Given the description of an element on the screen output the (x, y) to click on. 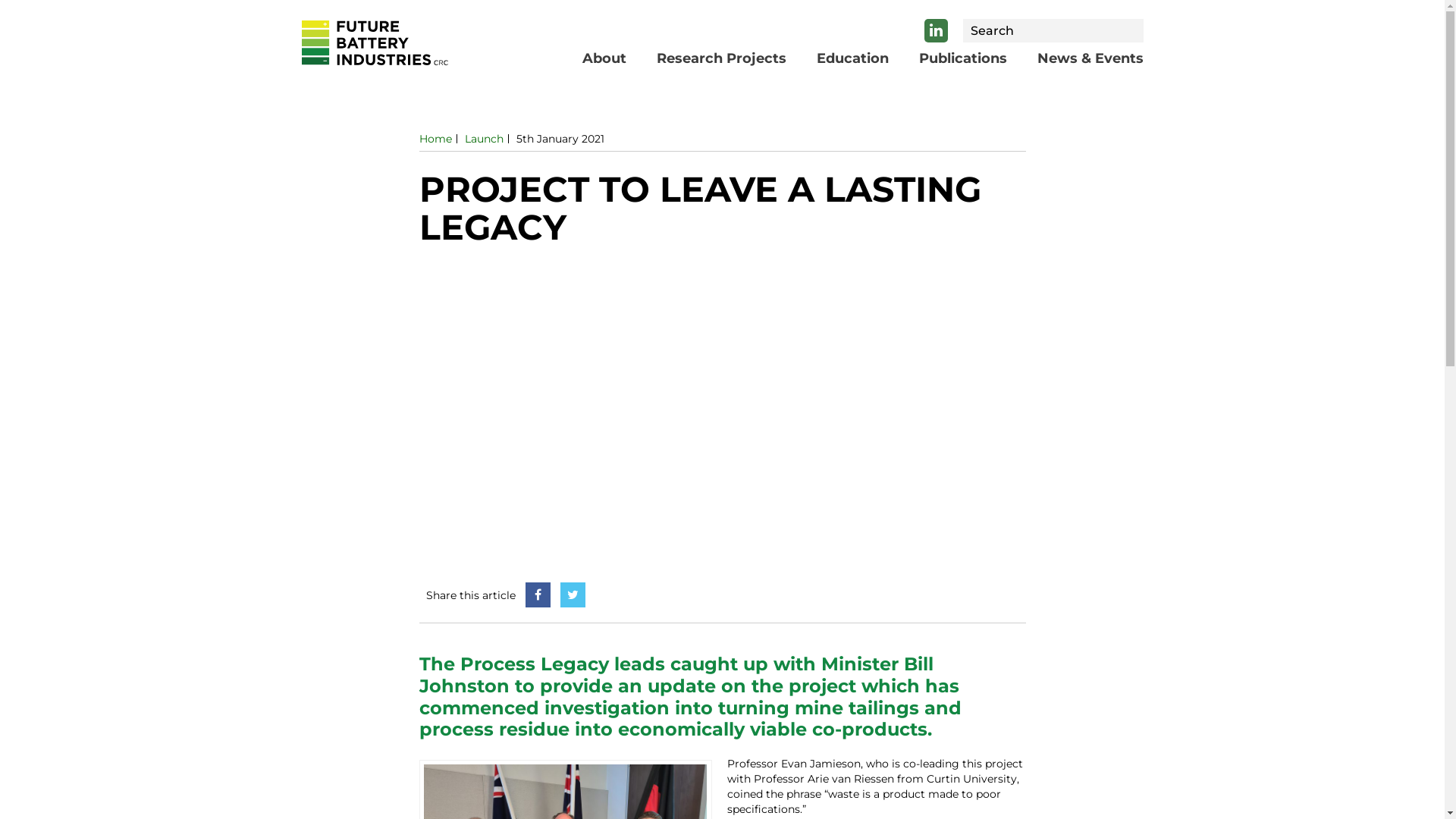
Home Element type: text (434, 138)
Research Projects Element type: text (721, 58)
Launch Element type: text (483, 138)
Publications Element type: text (963, 58)
News & Events Element type: text (1090, 58)
About Element type: text (604, 58)
Search Element type: text (1128, 30)
Education Element type: text (851, 58)
